Given the description of an element on the screen output the (x, y) to click on. 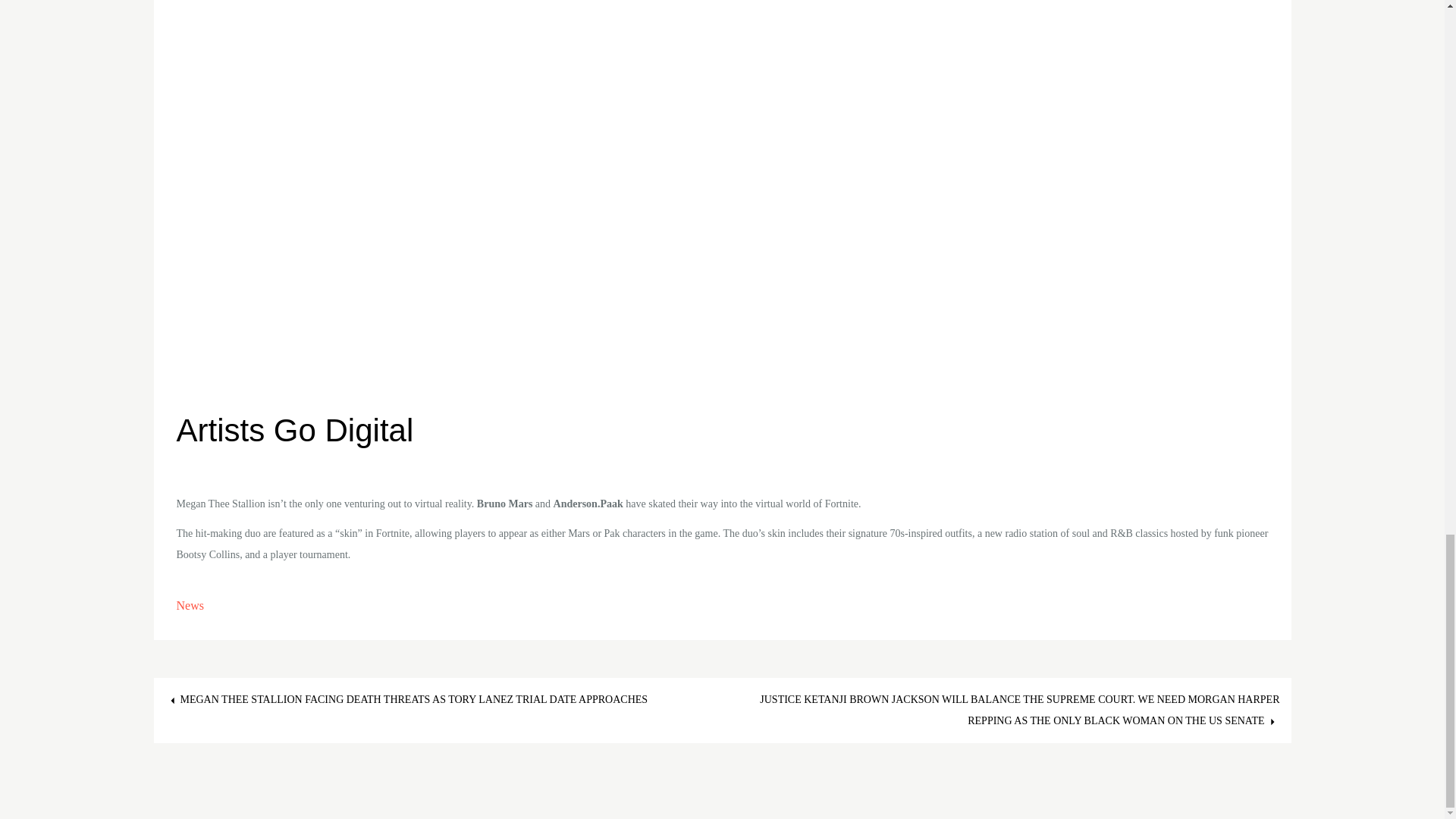
Megan Thee Stallion - Enter Thee Hottieverse Announcment ID (427, 54)
News (189, 604)
